Given the description of an element on the screen output the (x, y) to click on. 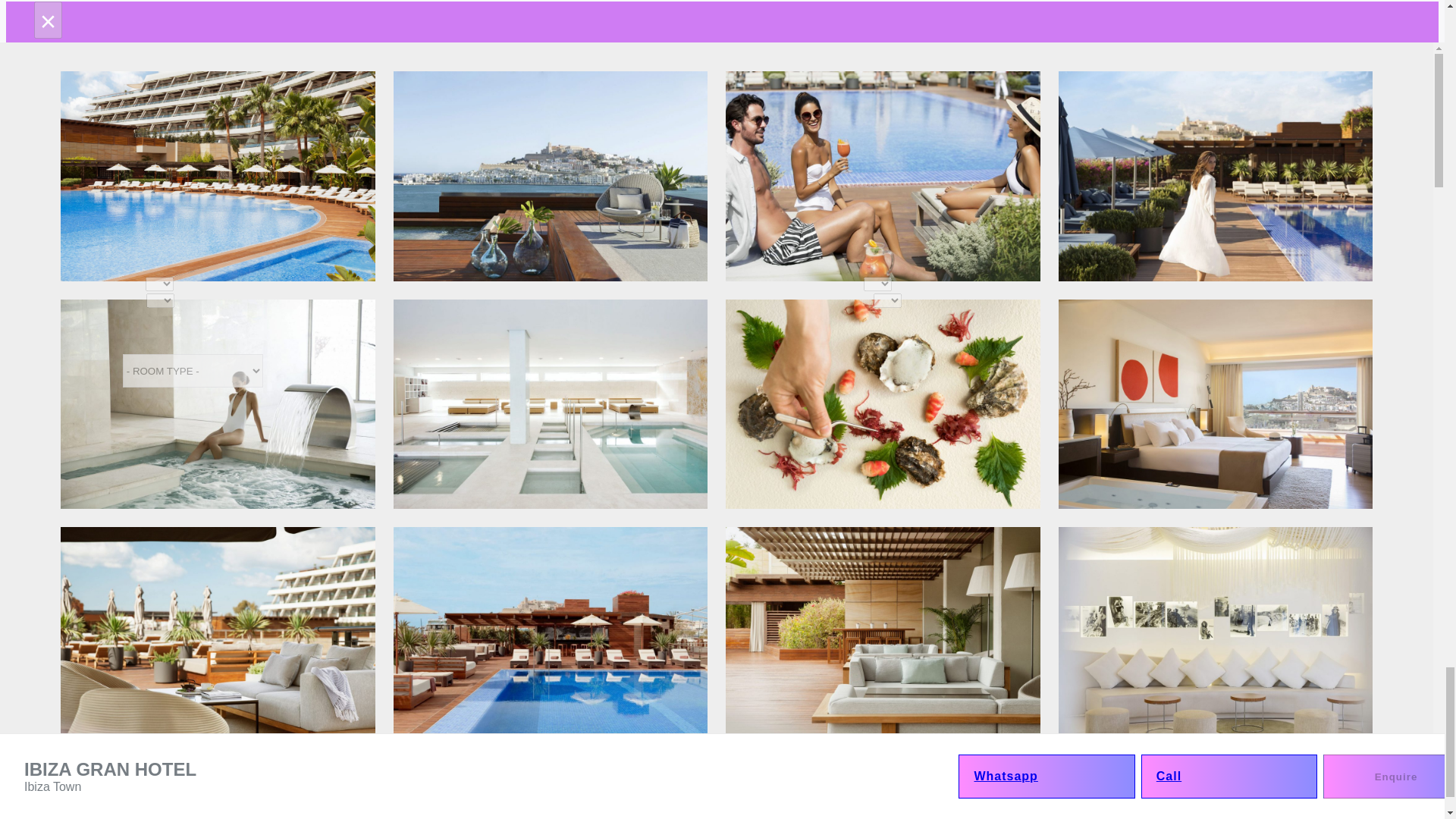
SEND (91, 489)
Subscribe to our newsletter (25, 456)
